Given the description of an element on the screen output the (x, y) to click on. 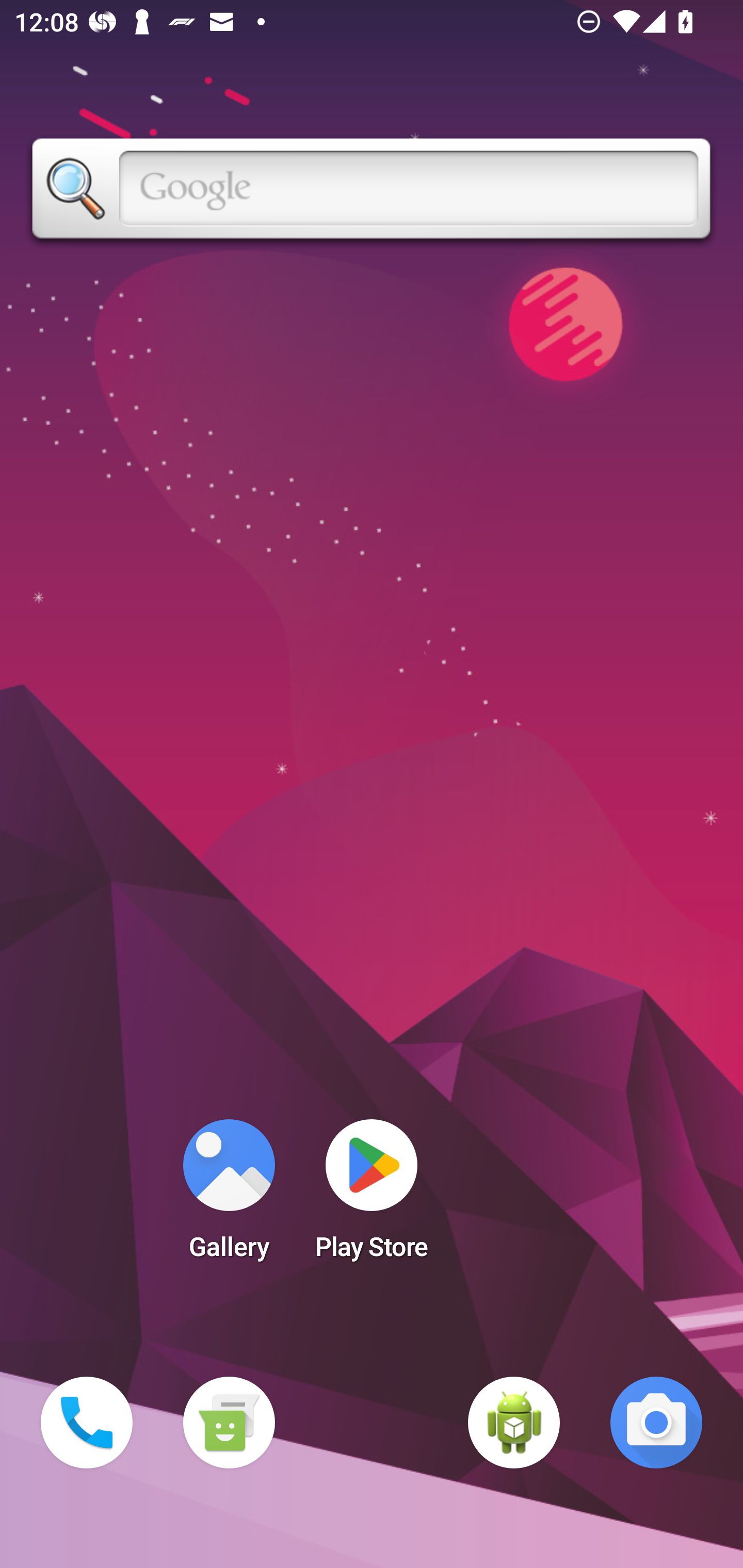
Gallery (228, 1195)
Play Store (371, 1195)
Phone (86, 1422)
Messaging (228, 1422)
WebView Browser Tester (513, 1422)
Camera (656, 1422)
